Given the description of an element on the screen output the (x, y) to click on. 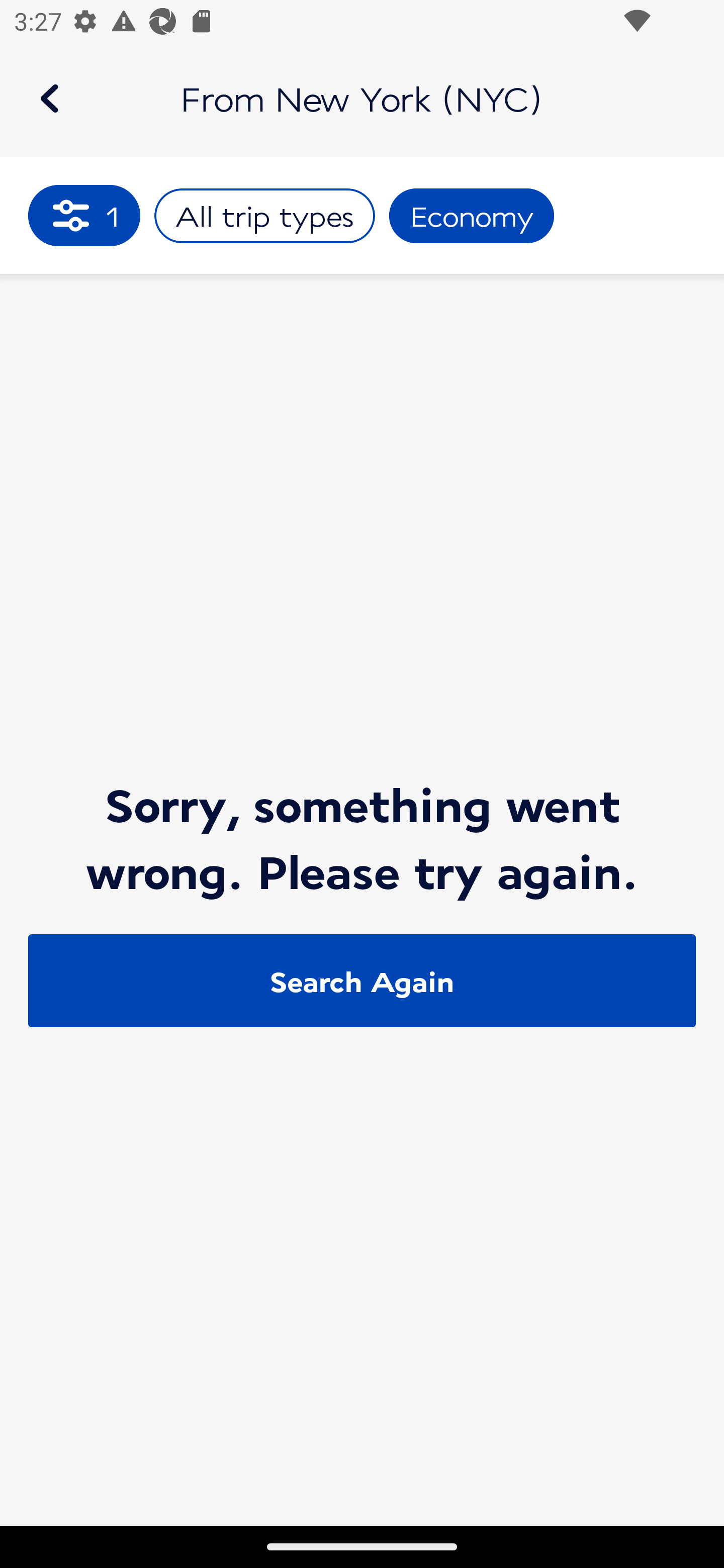
leading 1 (84, 215)
All trip types (264, 216)
Economy (471, 216)
Search Again (361, 980)
